Given the description of an element on the screen output the (x, y) to click on. 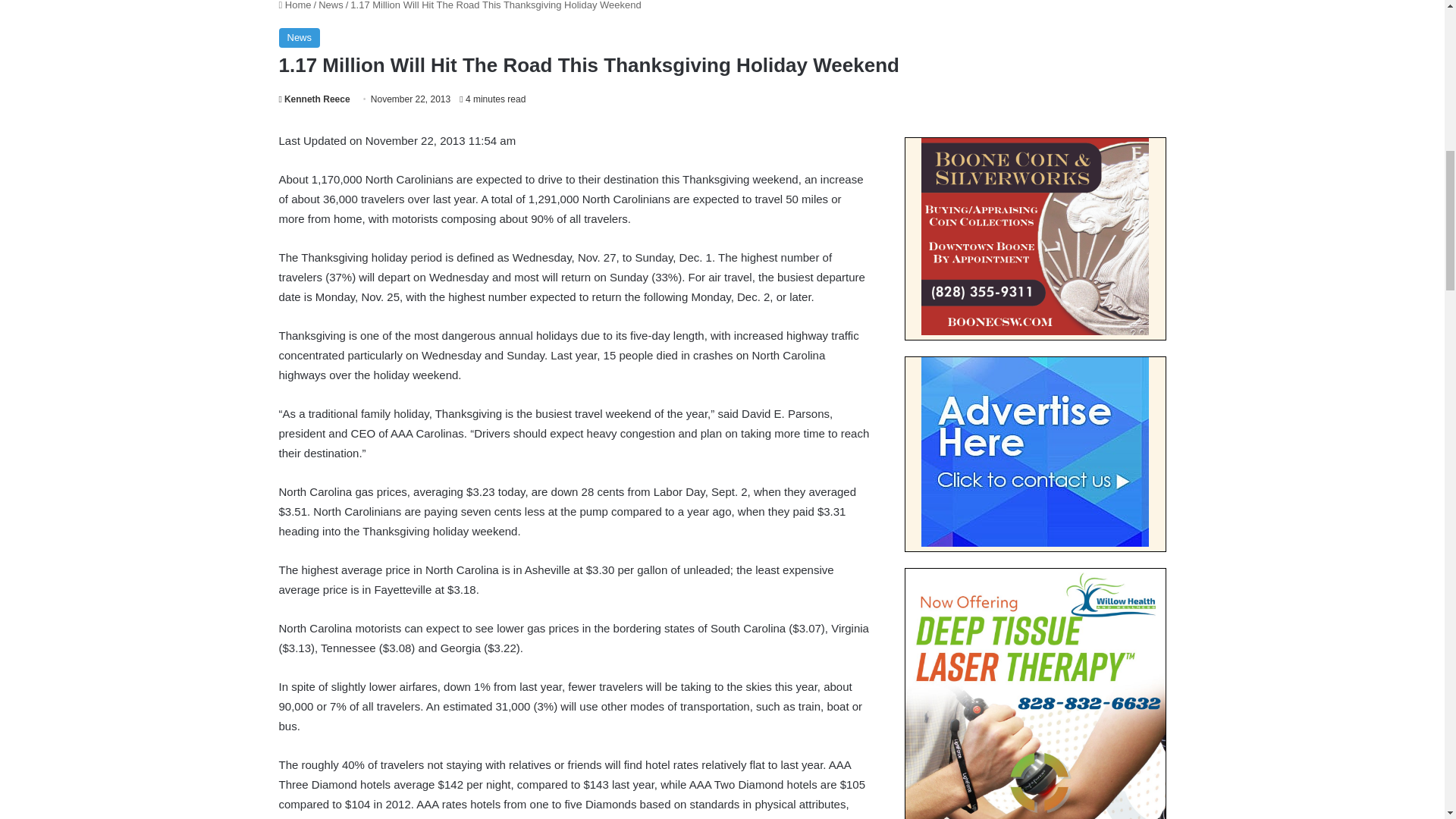
Kenneth Reece (314, 99)
